Given the description of an element on the screen output the (x, y) to click on. 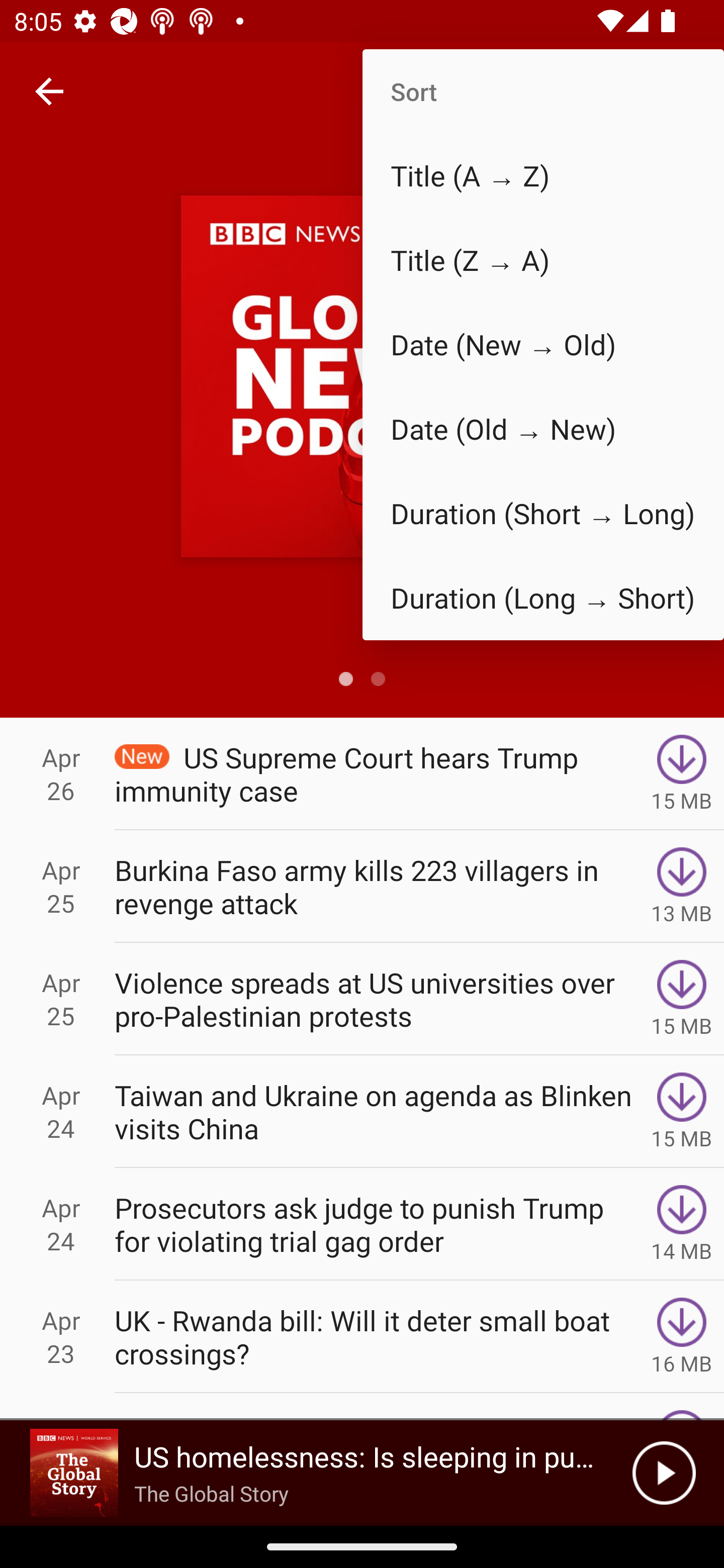
Title (A → Z) (543, 175)
Title (Z → A) (543, 259)
Date (New → Old) (543, 344)
Date (Old → New) (543, 429)
Duration (Short → Long) (543, 513)
Duration (Long → Short) (543, 597)
